Given the description of an element on the screen output the (x, y) to click on. 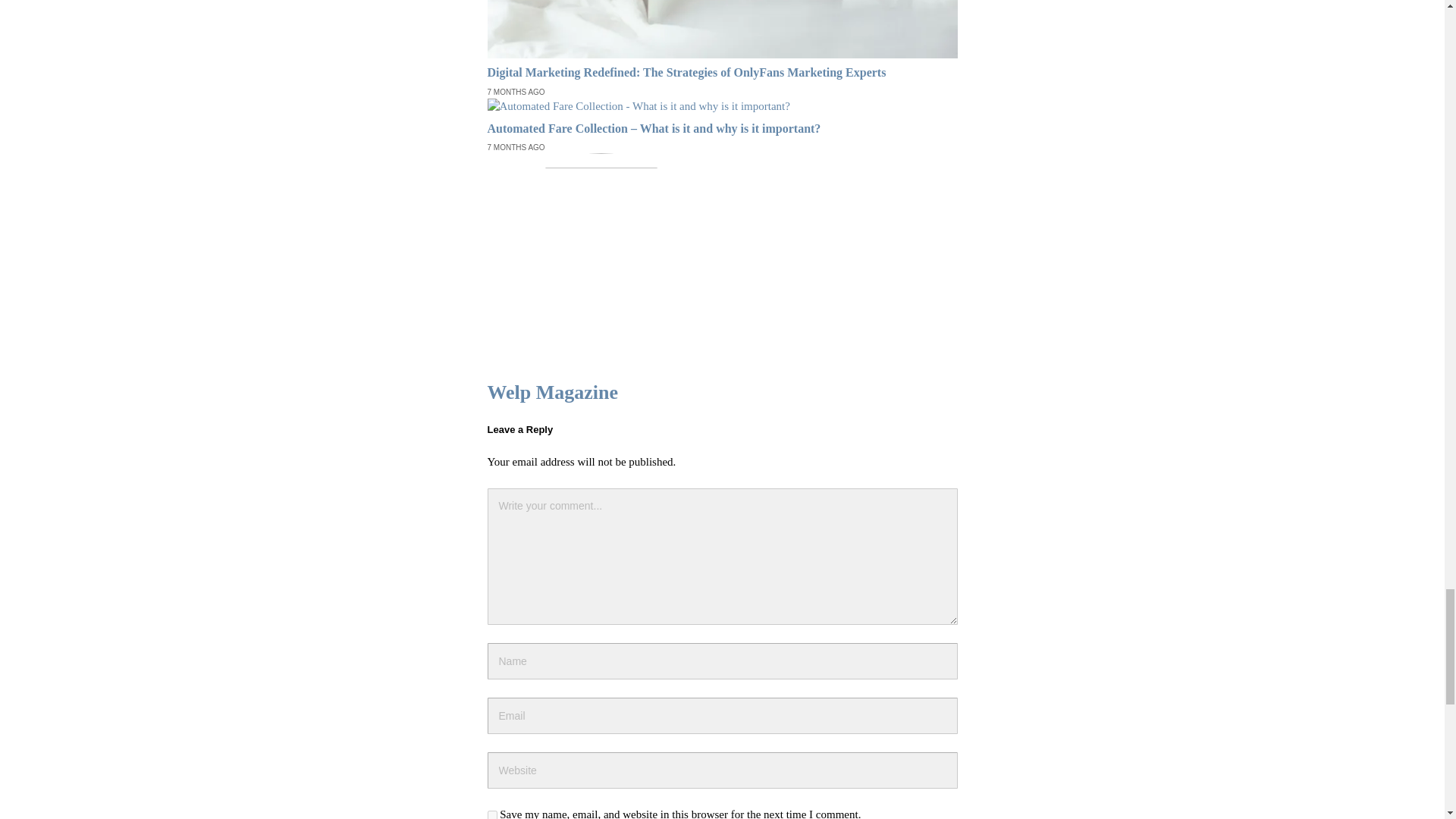
yes (491, 814)
30 Jan, 2024 21:58:39 (515, 147)
16 Feb, 2024 01:48:53 (515, 91)
